Given the description of an element on the screen output the (x, y) to click on. 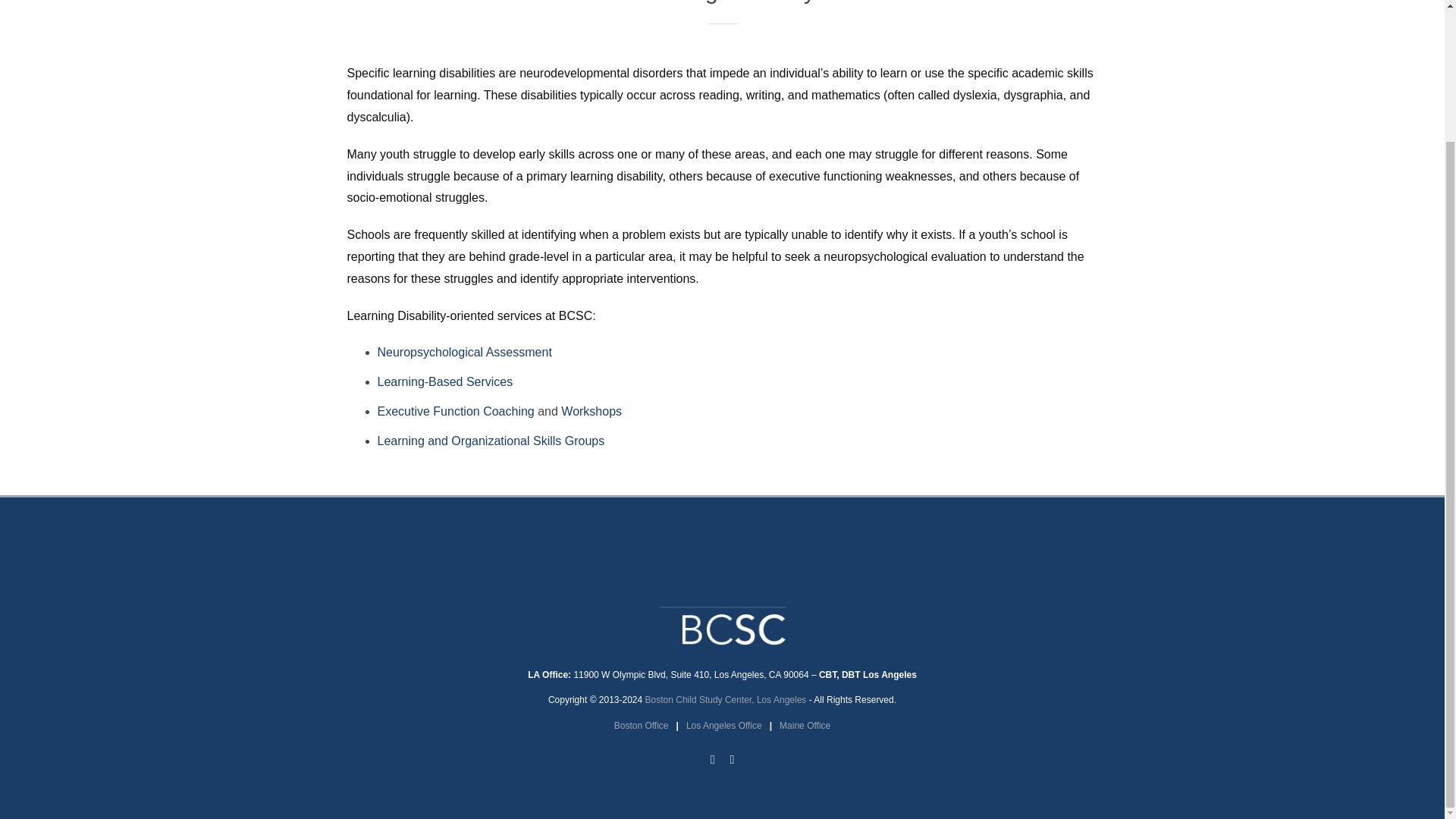
Learning Disability (721, 31)
